Given the description of an element on the screen output the (x, y) to click on. 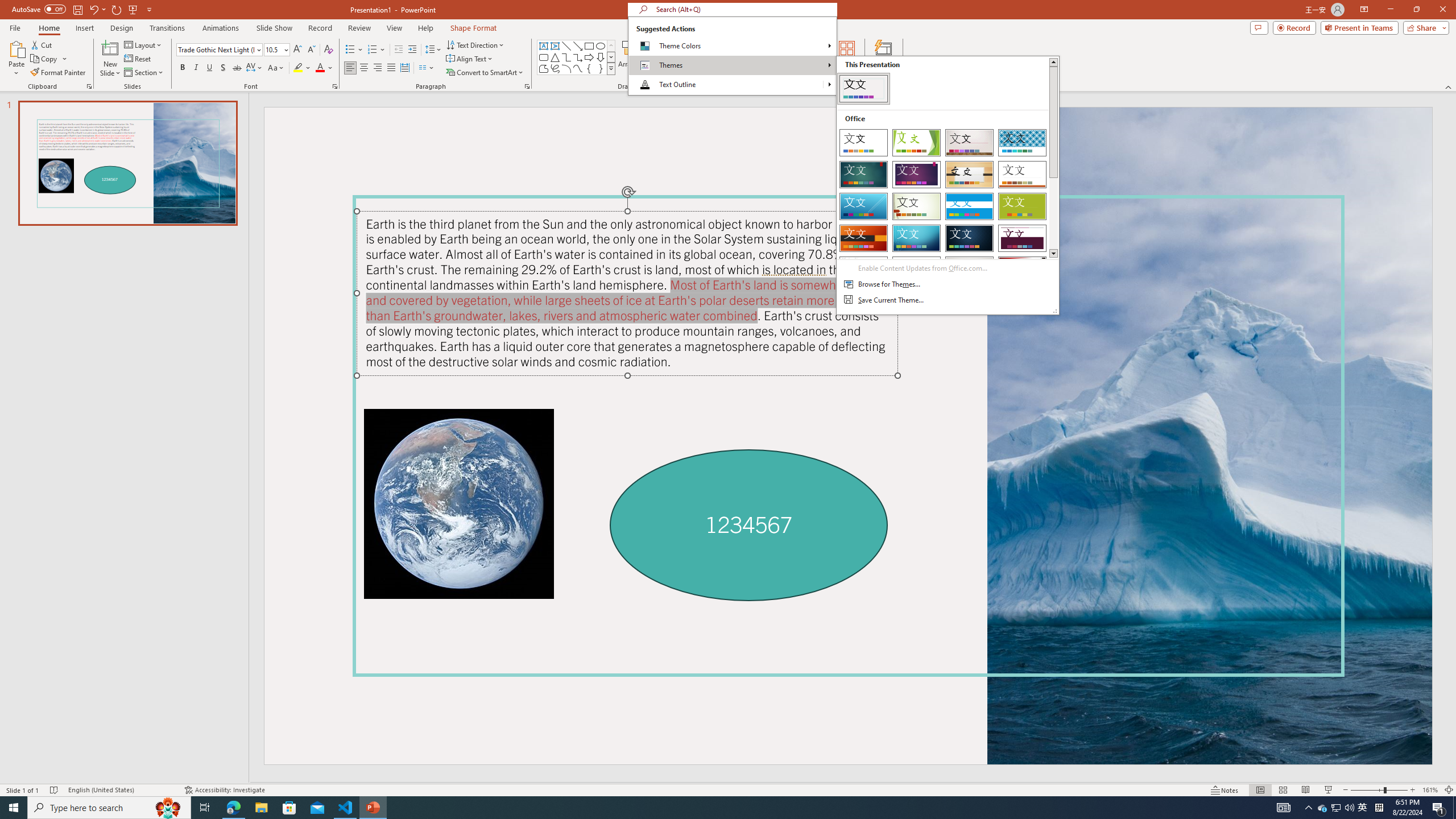
Increase Font Size (297, 49)
Paragraph... (526, 85)
Text Highlight Color Yellow (297, 67)
Microsoft Edge - 1 running window (233, 807)
